Given the description of an element on the screen output the (x, y) to click on. 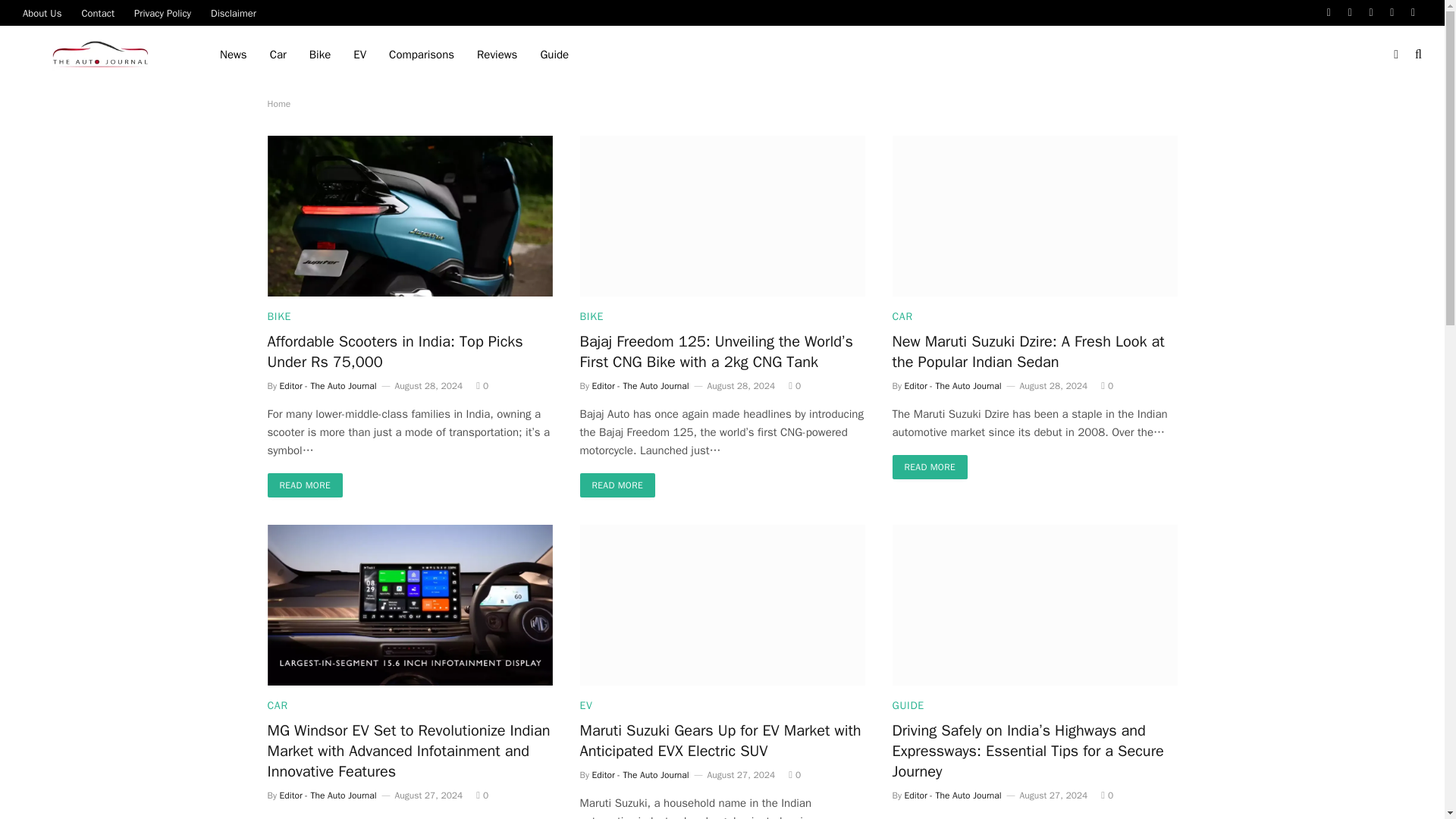
Guide (553, 54)
Switch to Dark Design - easier on eyes. (1396, 54)
Reviews (496, 54)
Privacy Policy (161, 12)
Disclaimer (233, 12)
Posts by Editor - The Auto Journal (640, 386)
Posts by Editor - The Auto Journal (952, 386)
The Auto Journal (102, 54)
BIKE (278, 316)
Comparisons (421, 54)
